Given the description of an element on the screen output the (x, y) to click on. 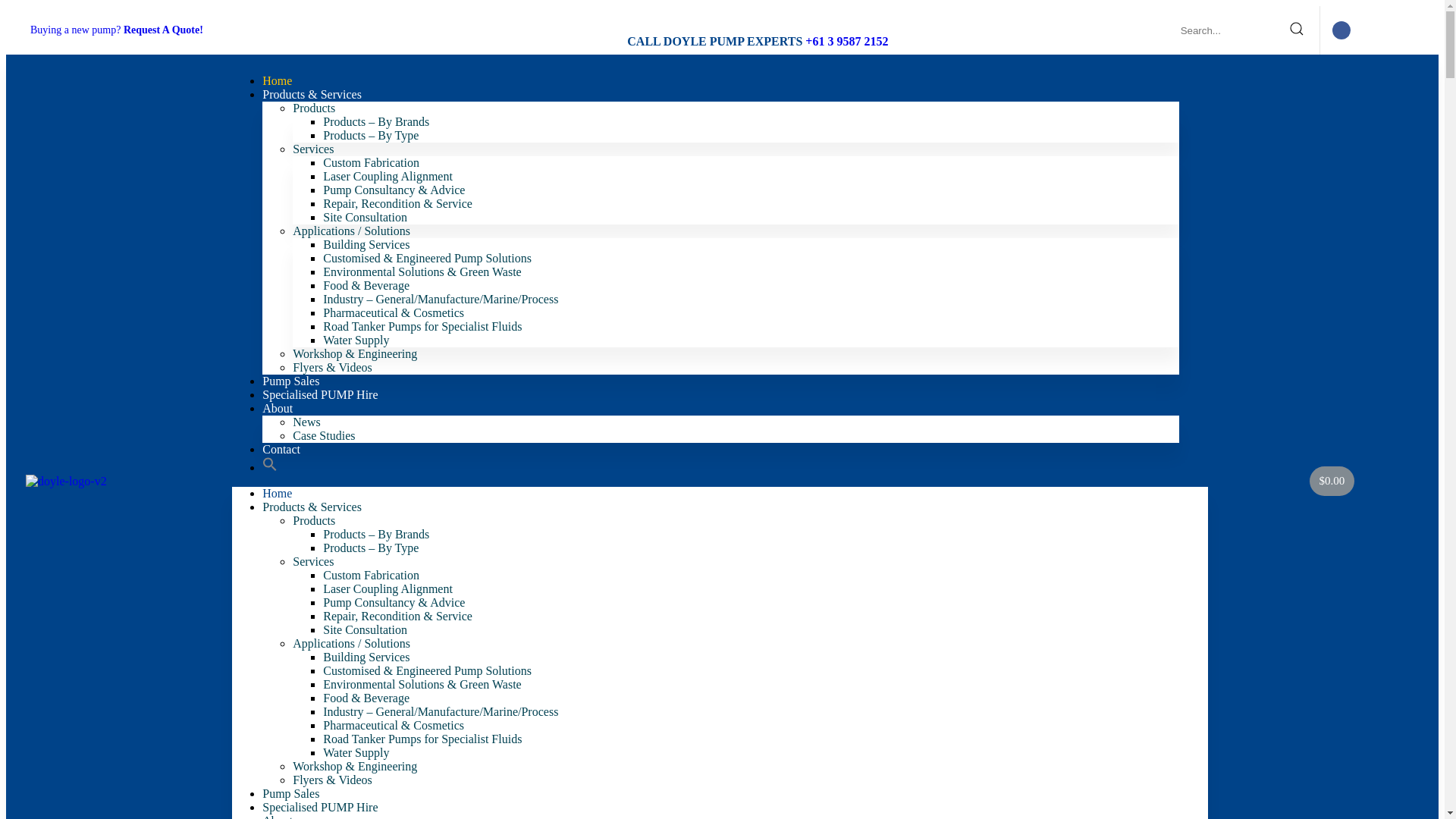
Home Element type: text (276, 492)
+61 3 9587 2152 Element type: text (846, 40)
Road Tanker Pumps for Specialist Fluids Element type: text (422, 738)
Services Element type: text (312, 561)
Pharmaceutical & Cosmetics Element type: text (393, 724)
Road Tanker Pumps for Specialist Fluids Element type: text (422, 326)
Site Consultation Element type: text (365, 216)
Water Supply Element type: text (356, 339)
Customised & Engineered Pump Solutions Element type: text (427, 670)
Pump Consultancy & Advice Element type: text (393, 602)
Pharmaceutical & Cosmetics Element type: text (393, 312)
Applications / Solutions Element type: text (351, 230)
$0.00 Element type: text (1332, 480)
Specialised PUMP Hire Element type: text (319, 806)
Contact Element type: text (281, 448)
doyle-logo-v2 Element type: hover (65, 481)
Applications / Solutions Element type: text (351, 643)
Search Element type: hover (1245, 30)
Water Supply Element type: text (356, 752)
Workshop & Engineering Element type: text (354, 353)
Laser Coupling Alignment Element type: text (387, 588)
Custom Fabrication Element type: text (371, 574)
Site Consultation Element type: text (365, 629)
Products Element type: text (313, 520)
Services Element type: text (312, 148)
Case Studies Element type: text (323, 435)
Pump Sales Element type: text (290, 793)
Flyers & Videos Element type: text (332, 366)
Workshop & Engineering Element type: text (354, 765)
Environmental Solutions & Green Waste Element type: text (421, 271)
Products & Services Element type: text (311, 93)
About Element type: text (277, 407)
Laser Coupling Alignment Element type: text (387, 175)
Repair, Recondition & Service Element type: text (397, 615)
News Element type: text (306, 421)
Food & Beverage Element type: text (366, 697)
Pump Sales Element type: text (290, 380)
Products & Services Element type: text (311, 506)
Products Element type: text (313, 107)
Pump Consultancy & Advice Element type: text (393, 189)
Specialised PUMP Hire Element type: text (319, 394)
Building Services Element type: text (366, 244)
Environmental Solutions & Green Waste Element type: text (421, 683)
Custom Fabrication Element type: text (371, 162)
Customised & Engineered Pump Solutions Element type: text (427, 257)
Buying a new pump? Request A Quote! Element type: text (116, 29)
Home Element type: text (276, 80)
Repair, Recondition & Service Element type: text (397, 203)
Food & Beverage Element type: text (366, 285)
Flyers & Videos Element type: text (332, 779)
Building Services Element type: text (366, 656)
